Given the description of an element on the screen output the (x, y) to click on. 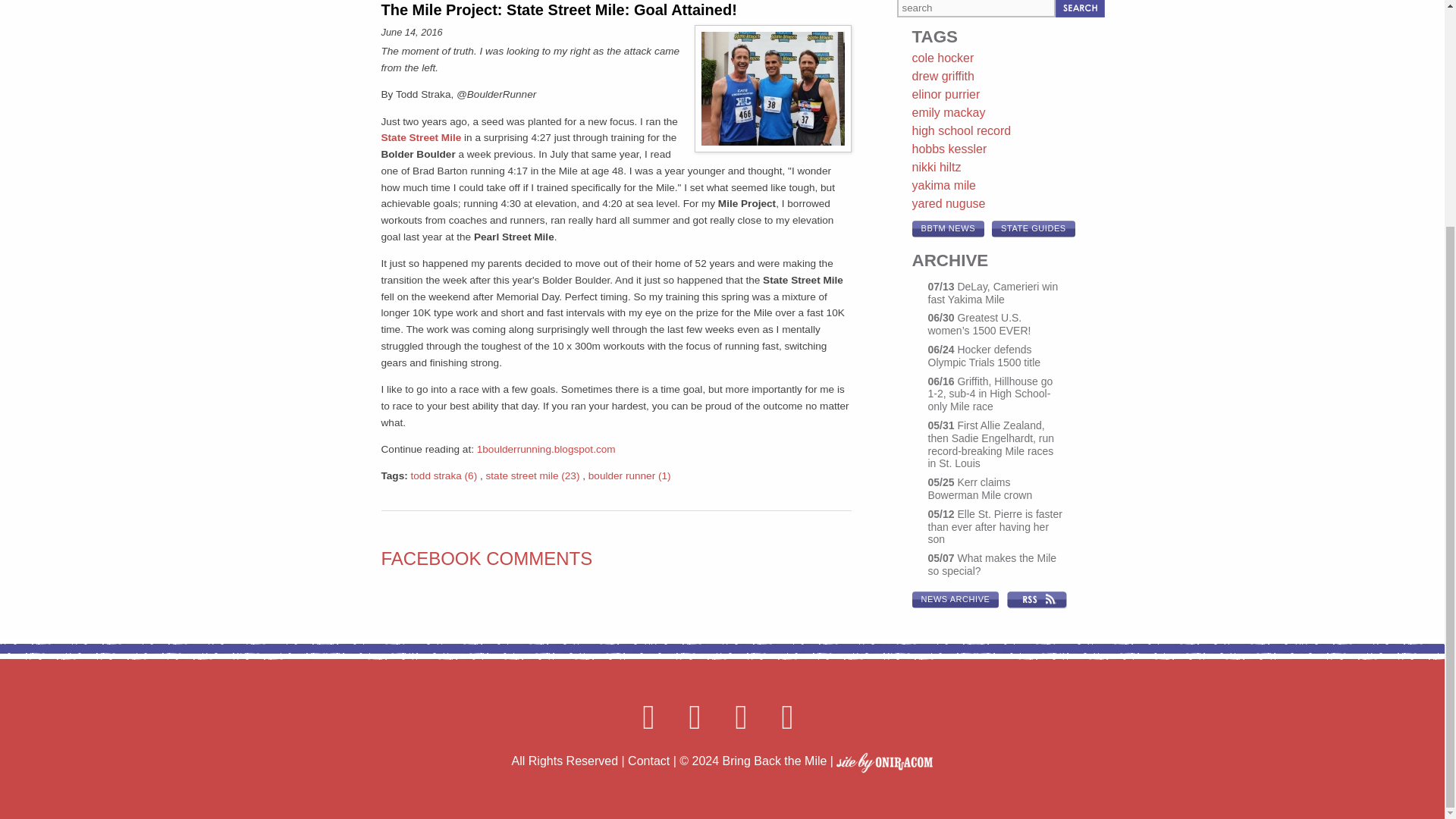
cole hocker (942, 57)
yakima mile (943, 185)
State Street Mile (420, 137)
STATE GUIDES (1033, 228)
1boulderrunning.blogspot.com (546, 449)
yared nuguse (948, 203)
Search (1080, 8)
BBTM NEWS (947, 228)
cole hocker (942, 57)
high school record (960, 130)
emily mackay (948, 112)
nikki hiltz (935, 166)
emily mackay (948, 112)
Search (1080, 8)
drew griffith (942, 75)
